Given the description of an element on the screen output the (x, y) to click on. 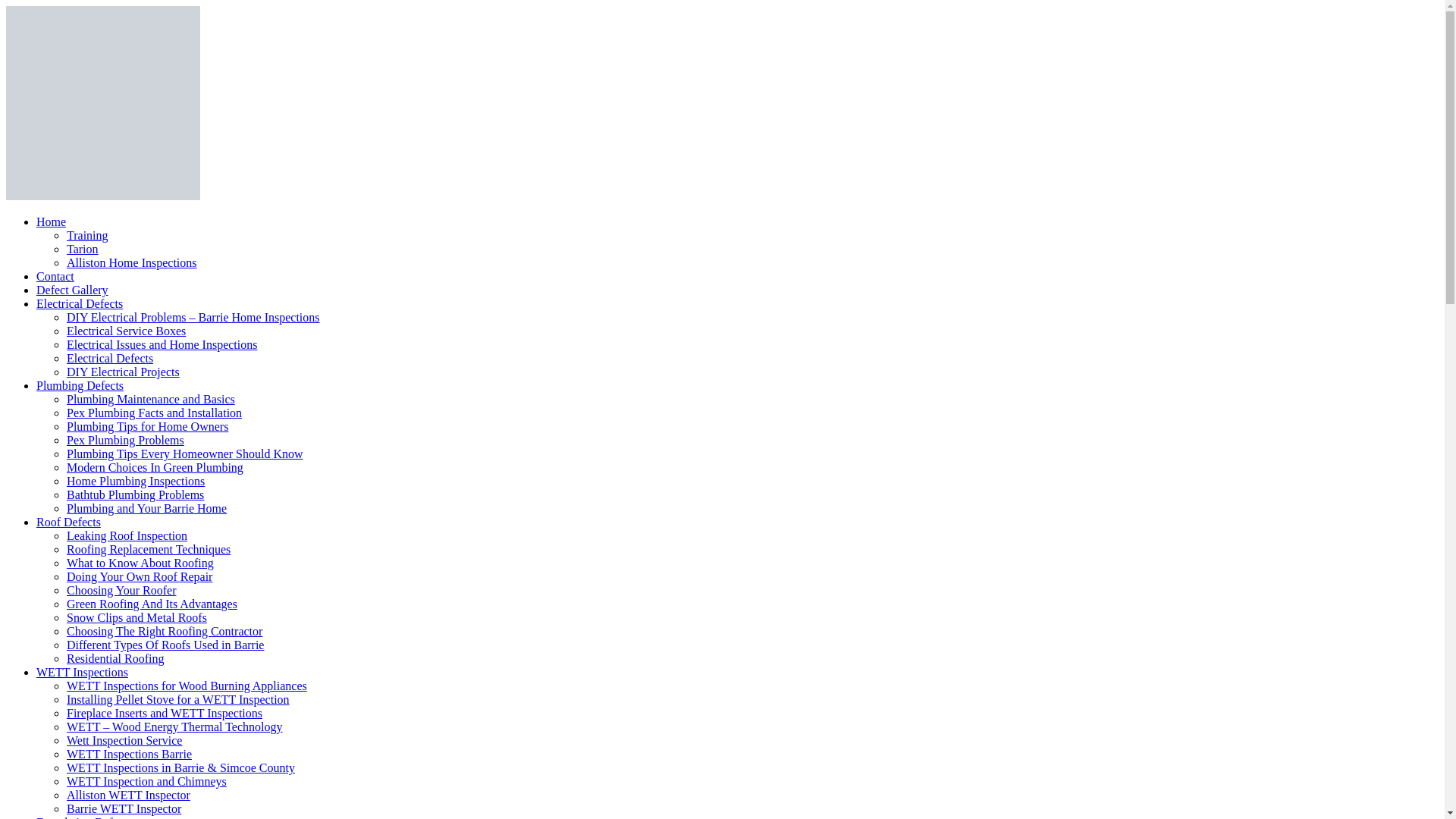
DIY Electrical Projects Element type: text (122, 371)
Pex Plumbing Problems Element type: text (125, 439)
Tarion Element type: text (82, 248)
Defect Gallery Element type: text (72, 289)
Pex Plumbing Facts and Installation Element type: text (153, 412)
Installing Pellet Stove for a WETT Inspection Element type: text (177, 699)
WETT Inspections in Barrie & Simcoe County Element type: text (180, 767)
Choosing The Right Roofing Contractor Element type: text (164, 630)
Different Types Of Roofs Used in Barrie Element type: text (164, 644)
Roof Defects Element type: text (68, 521)
Leaking Roof Inspection Element type: text (126, 535)
Choosing Your Roofer Element type: text (120, 589)
Home Plumbing Inspections Element type: text (135, 480)
Electrical Defects Element type: text (109, 357)
Plumbing and Your Barrie Home Element type: text (146, 508)
Alliston Home Inspections Element type: text (131, 262)
Plumbing Tips for Home Owners Element type: text (147, 426)
WETT Inspections Barrie Element type: text (128, 753)
Training Element type: text (87, 235)
Residential Roofing Element type: text (114, 658)
Electrical Service Boxes Element type: text (125, 330)
Wett Inspection Service Element type: text (124, 740)
Modern Choices In Green Plumbing Element type: text (154, 467)
Fireplace Inserts and WETT Inspections Element type: text (164, 712)
Electrical Issues and Home Inspections Element type: text (161, 344)
Plumbing Defects Element type: text (79, 385)
Green Roofing And Its Advantages Element type: text (151, 603)
Bathtub Plumbing Problems Element type: text (134, 494)
Contact Element type: text (55, 275)
WETT Inspections Element type: text (82, 671)
Plumbing Maintenance and Basics Element type: text (150, 398)
Snow Clips and Metal Roofs Element type: text (136, 617)
Barrie WETT Inspector Element type: text (123, 808)
Roofing Replacement Techniques Element type: text (148, 548)
WETT Inspections for Wood Burning Appliances Element type: text (186, 685)
What to Know About Roofing Element type: text (139, 562)
Plumbing Tips Every Homeowner Should Know Element type: text (184, 453)
Electrical Defects Element type: text (79, 303)
Home Element type: text (50, 221)
Alliston WETT Inspector Element type: text (128, 794)
WETT Inspection and Chimneys Element type: text (146, 781)
Doing Your Own Roof Repair Element type: text (139, 576)
